Given the description of an element on the screen output the (x, y) to click on. 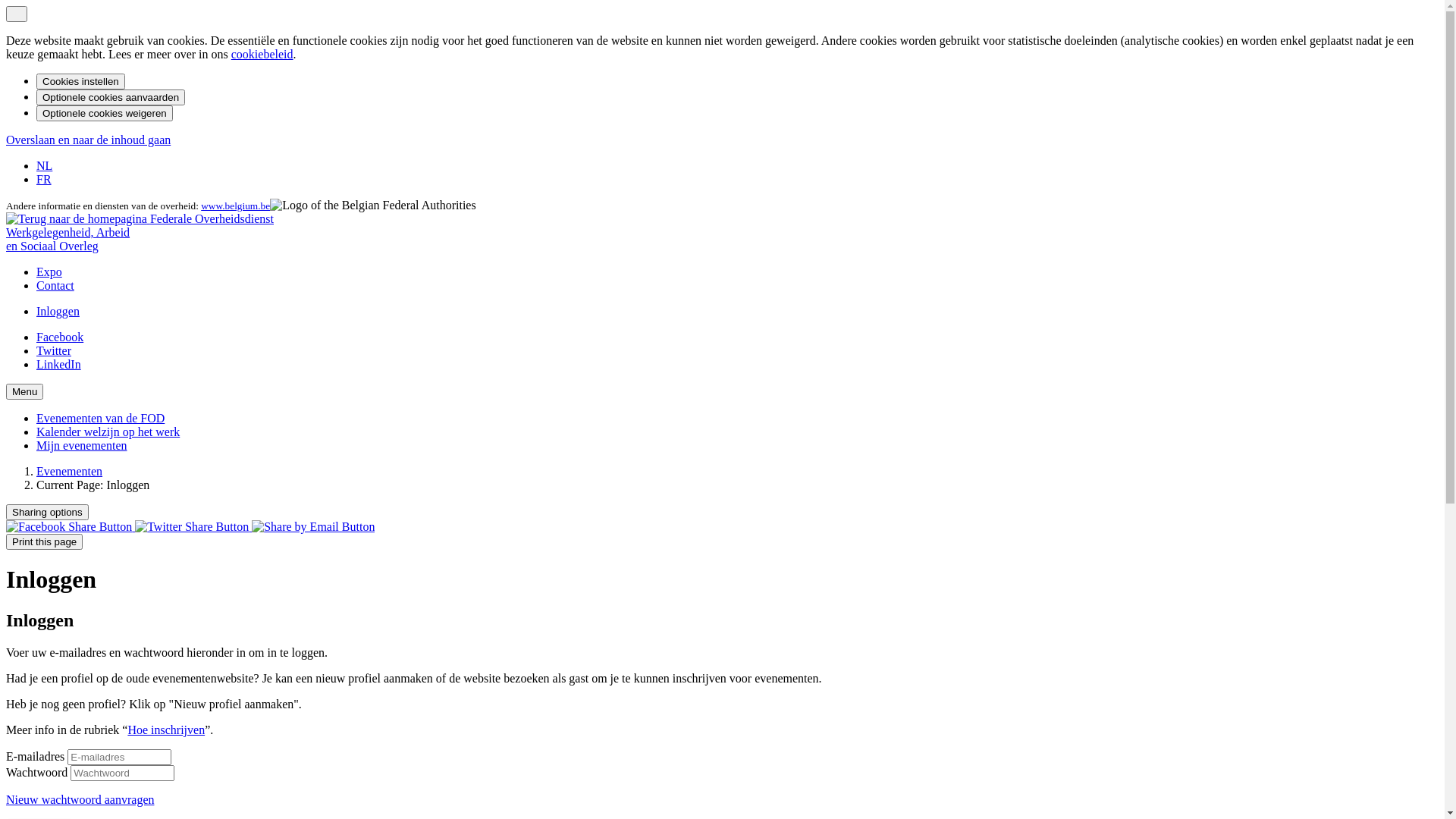
Expo Element type: text (49, 271)
Print this page Element type: text (44, 541)
Overslaan en naar de inhoud gaan Element type: text (88, 139)
Optionele cookies weigeren Element type: text (104, 113)
Optionele cookies aanvaarden Element type: text (110, 97)
www.belgium.be Element type: text (234, 205)
Menu Element type: text (24, 391)
Nieuw wachtwoord aanvragen Element type: text (79, 799)
FR Element type: text (43, 178)
Wachtwoord Element type: hover (122, 773)
Inloggen Element type: text (57, 310)
Contact Element type: text (55, 285)
E-mailadres Element type: hover (119, 757)
Hoe inschrijven Element type: text (165, 729)
Sharing options Element type: text (47, 512)
LinkedIn Element type: text (58, 363)
Evenementen Element type: text (69, 470)
Mijn evenementen Element type: text (81, 445)
Facebook Element type: text (59, 336)
cookiebeleid Element type: text (262, 53)
Cookies instellen Element type: text (80, 81)
Twitter Element type: text (53, 350)
Sluiten Element type: text (16, 13)
Evenementen van de FOD Element type: text (100, 417)
NL Element type: text (44, 165)
Kalender welzijn op het werk Element type: text (107, 431)
